Given the description of an element on the screen output the (x, y) to click on. 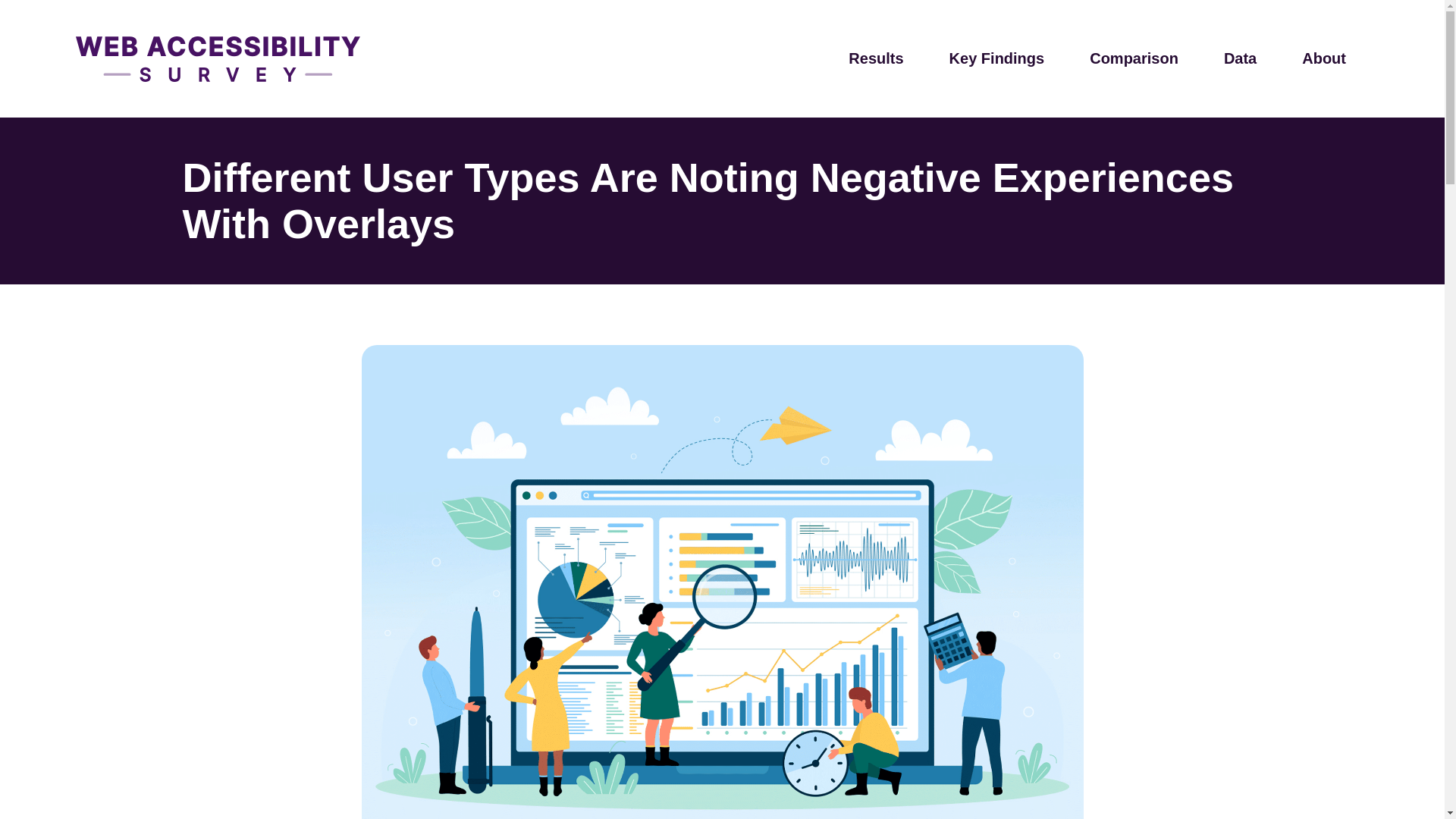
Data (1240, 58)
Key Findings (996, 58)
Comparison (1134, 58)
Results (875, 58)
About (1323, 58)
